Given the description of an element on the screen output the (x, y) to click on. 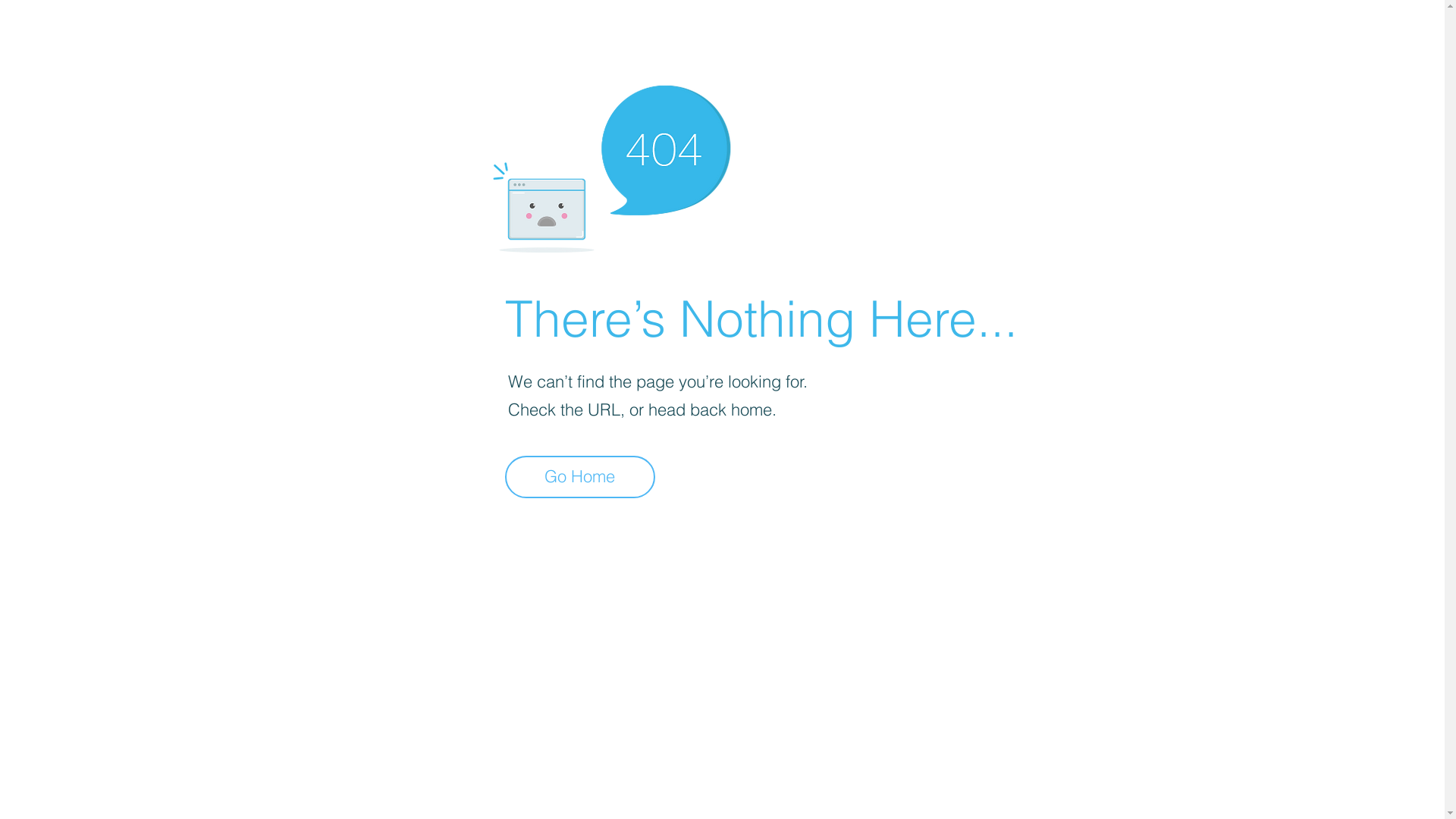
Go Home Element type: text (580, 476)
404-icon_2.png Element type: hover (610, 164)
